Given the description of an element on the screen output the (x, y) to click on. 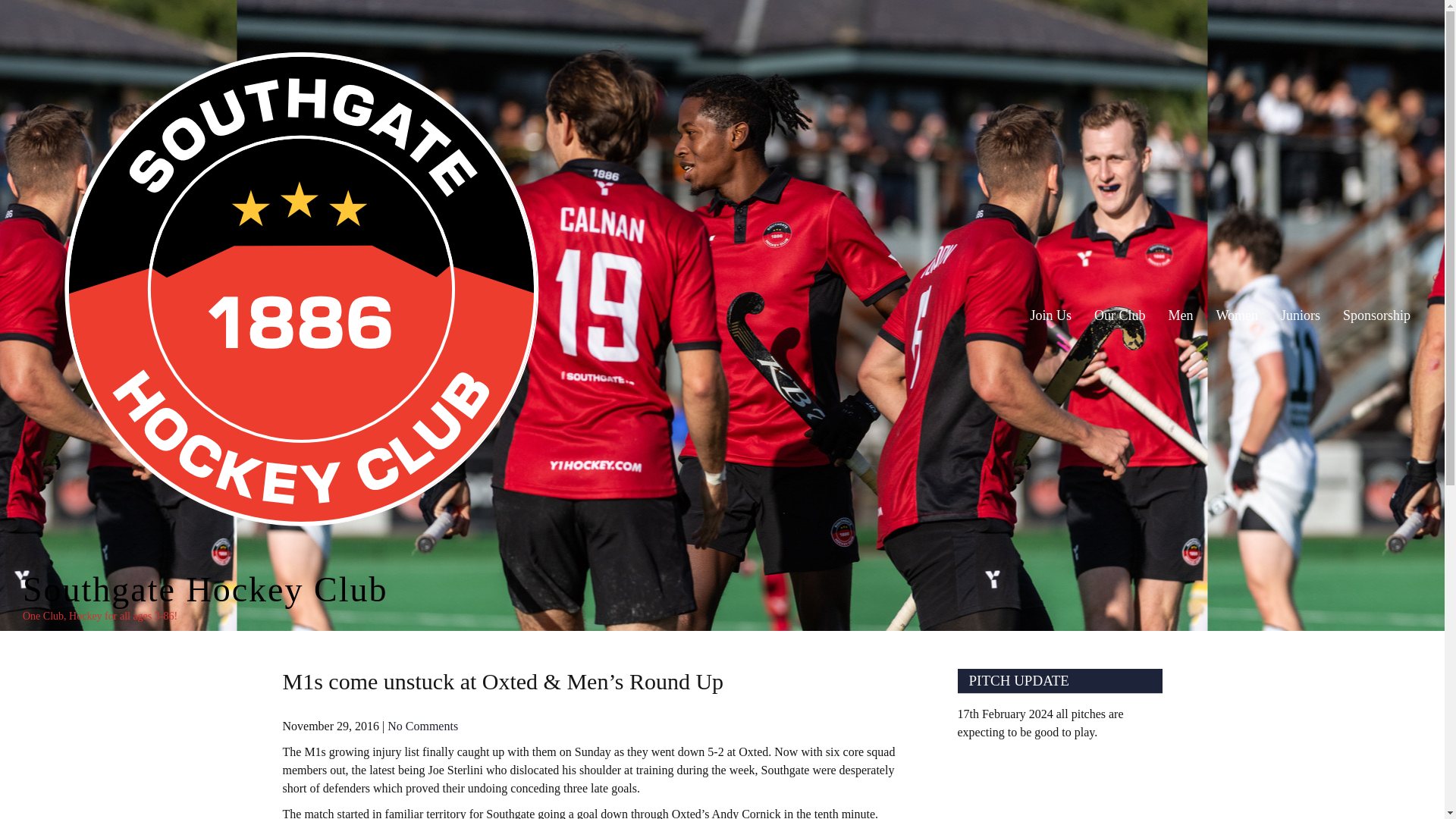
Women (1236, 315)
Sponsorship (1377, 315)
Our Club (1120, 315)
Join Us (1050, 315)
Men (1180, 315)
No Comments (422, 725)
Juniors (1300, 315)
Southgate Hockey Club (205, 589)
